Given the description of an element on the screen output the (x, y) to click on. 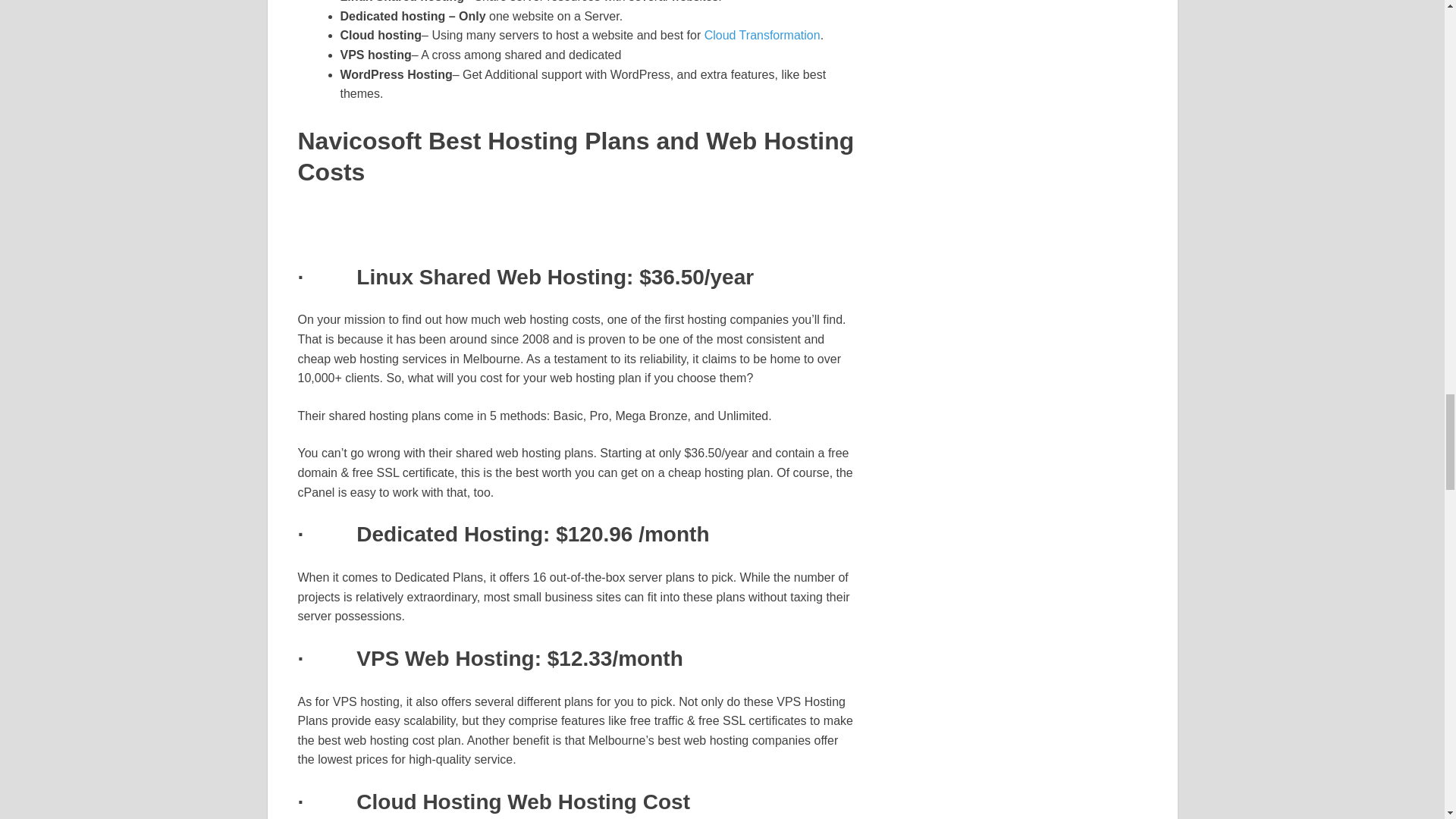
Cloud Transformation (762, 34)
